Given the description of an element on the screen output the (x, y) to click on. 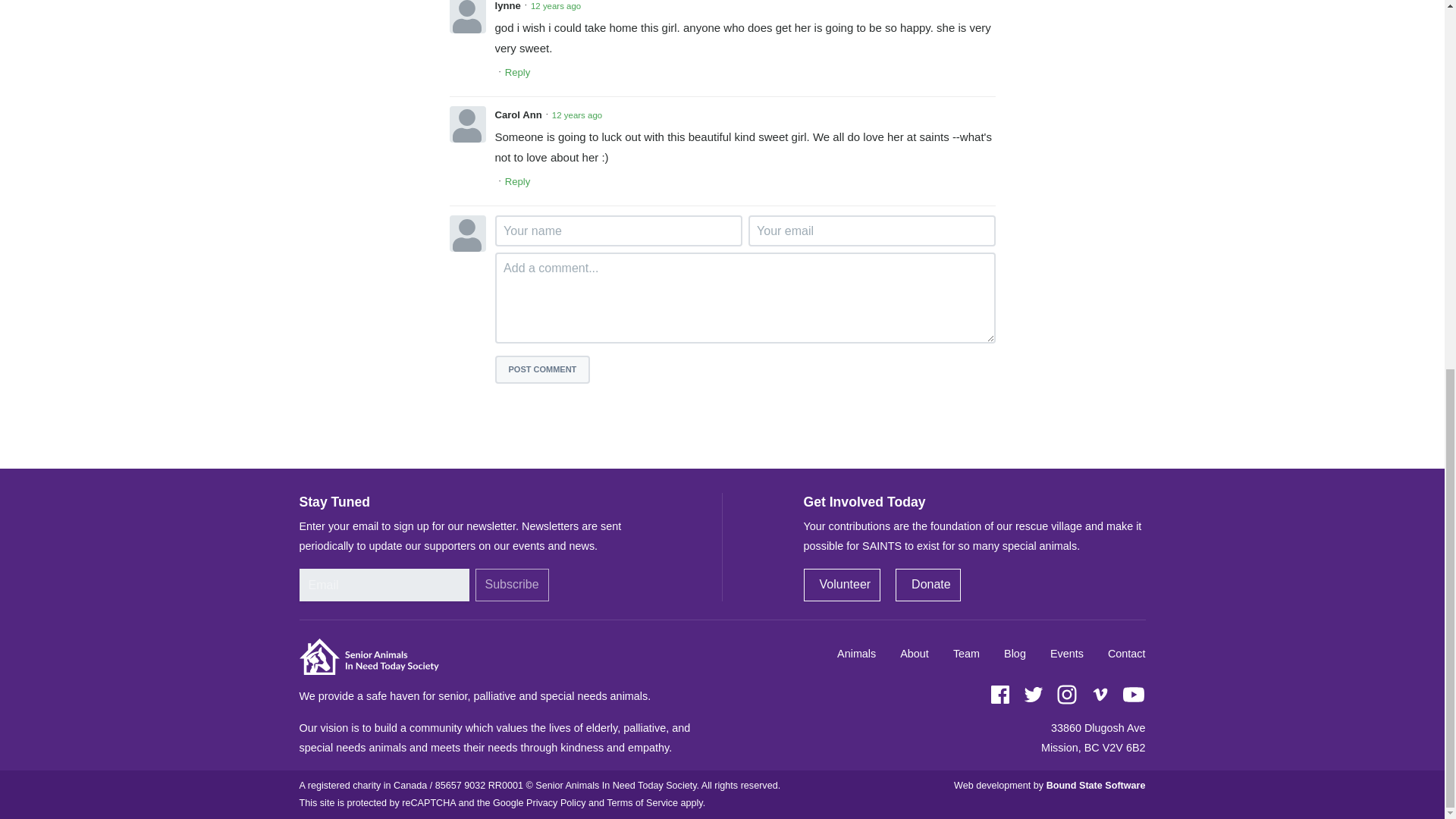
12 years ago (576, 115)
Donate (927, 584)
Events (1067, 654)
POST COMMENT (542, 369)
Reply (518, 72)
Animals (856, 654)
Contact (1126, 654)
Volunteer (841, 584)
Reply (518, 181)
Web development by Bound State Software (1048, 785)
About (914, 654)
Team (965, 654)
Blog (1014, 654)
12 years ago (555, 7)
Terms of Service (642, 802)
